Given the description of an element on the screen output the (x, y) to click on. 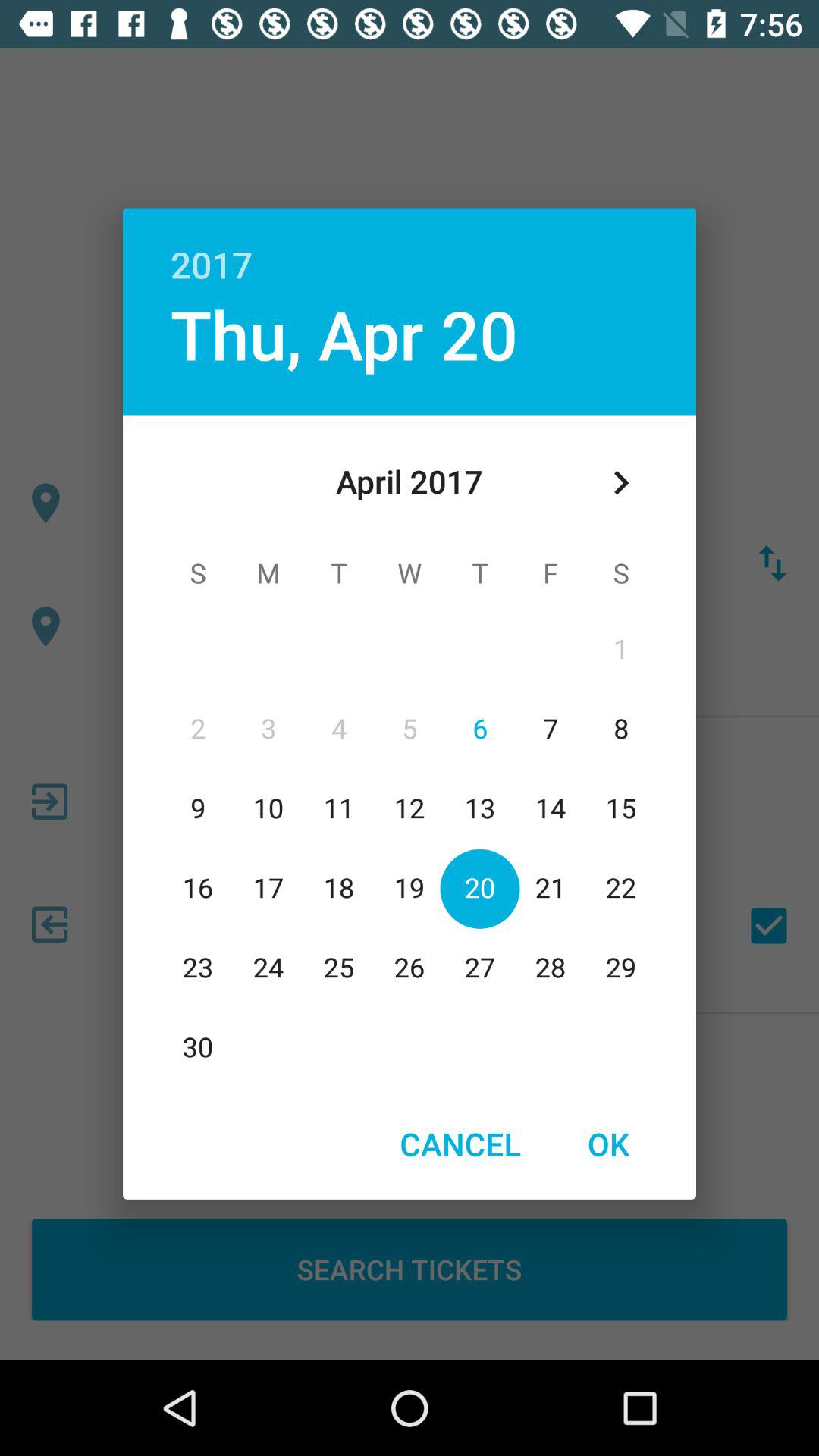
launch item at the top right corner (620, 482)
